Given the description of an element on the screen output the (x, y) to click on. 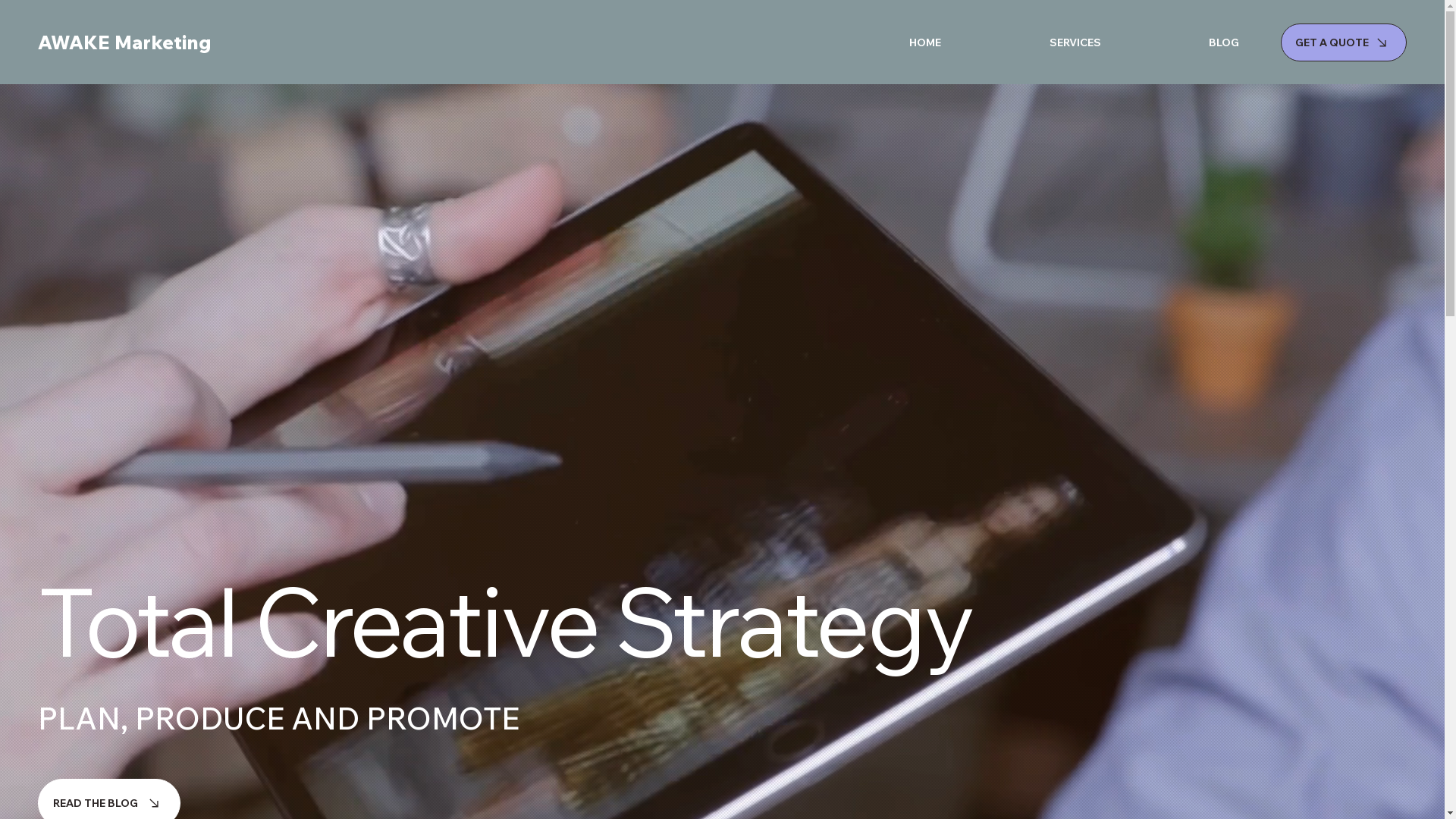
GET A QUOTE Element type: text (1343, 41)
SERVICES Element type: text (1031, 42)
BLOG Element type: text (1180, 42)
AWAKE Marketing Element type: text (124, 41)
HOME Element type: text (881, 42)
